Given the description of an element on the screen output the (x, y) to click on. 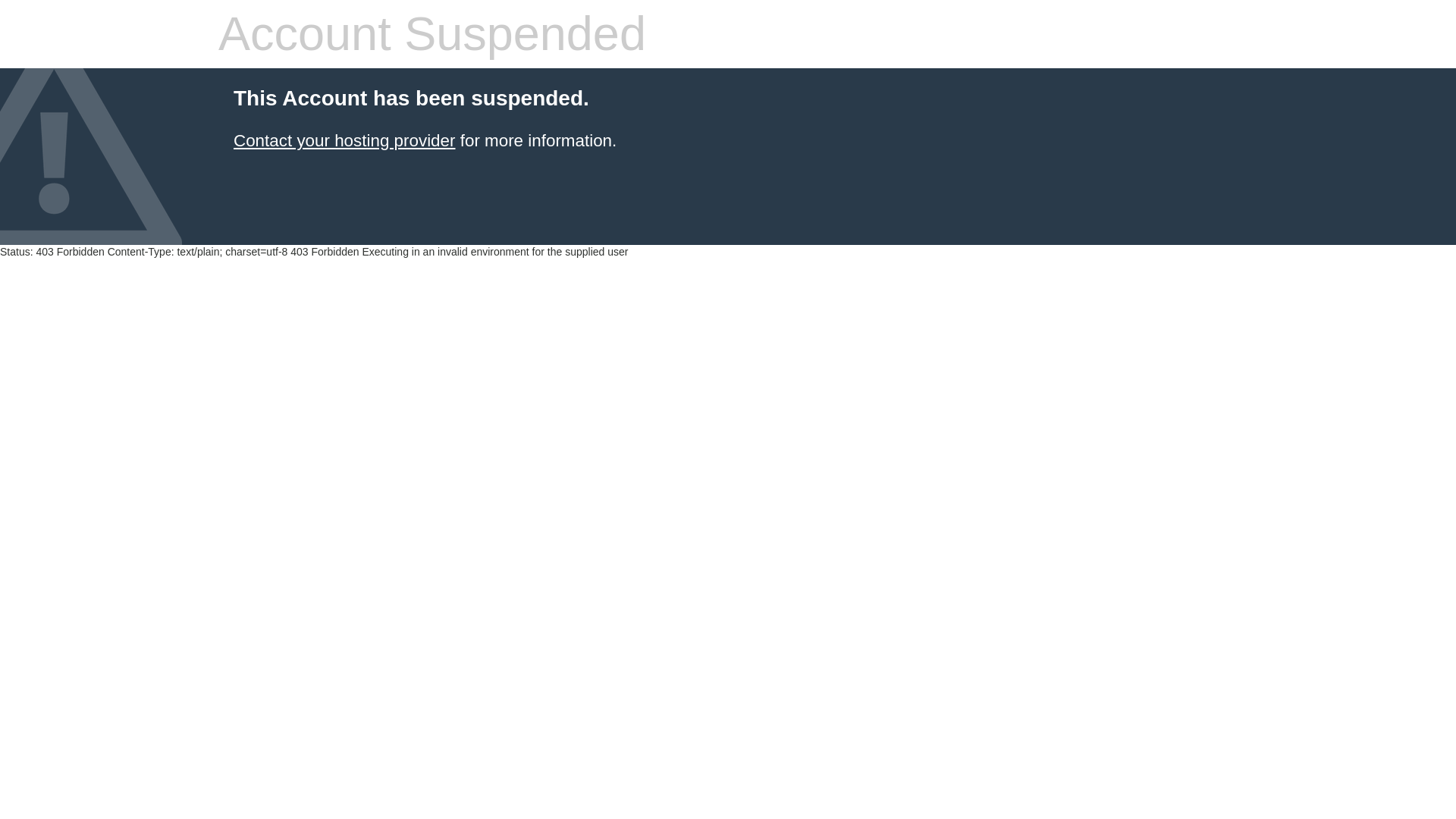
Contact your hosting provider (343, 140)
